Given the description of an element on the screen output the (x, y) to click on. 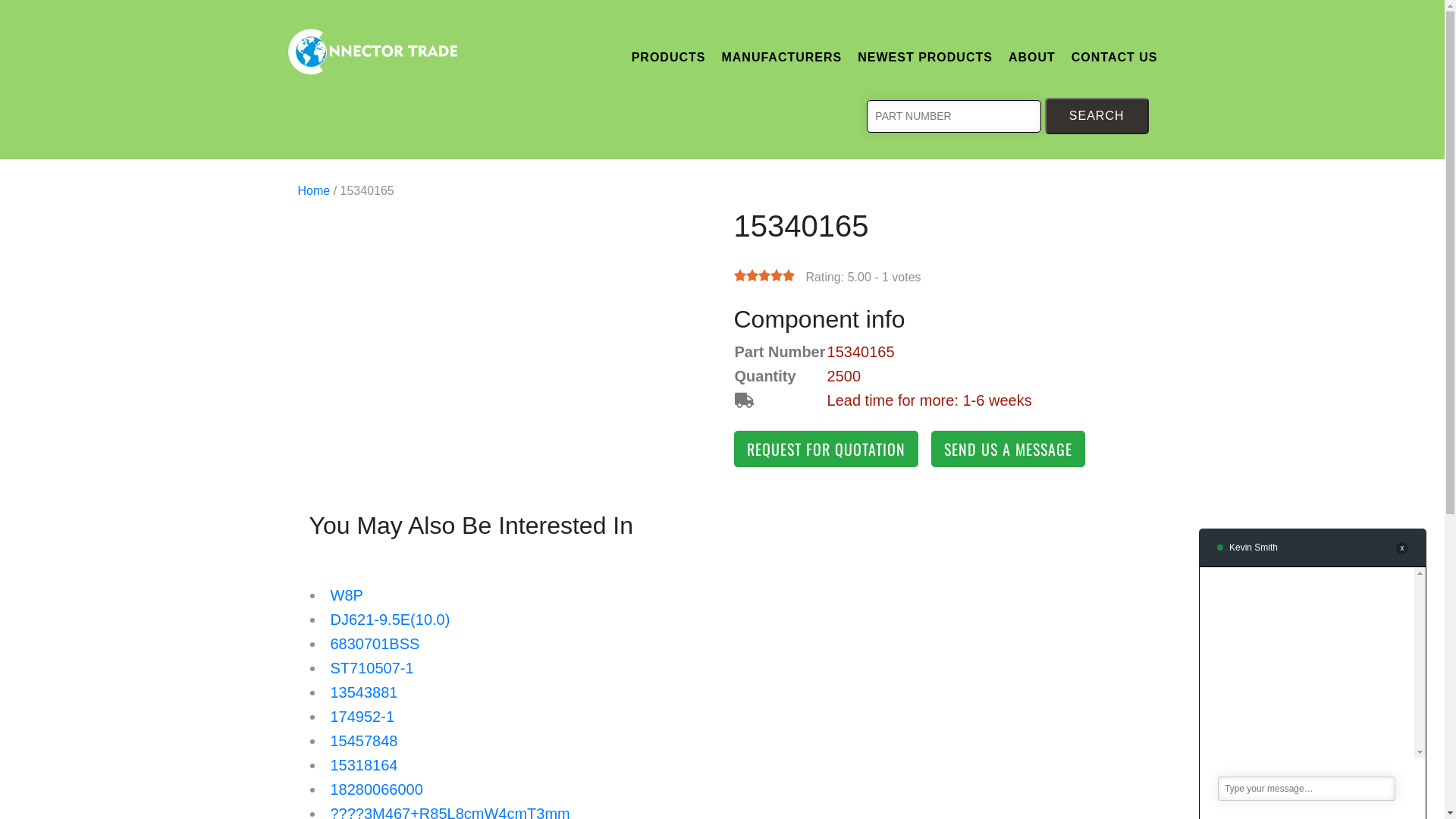
Home Element type: text (314, 190)
6830701BSS Element type: text (375, 643)
ABOUT Element type: text (1032, 56)
13543881 Element type: text (364, 692)
MANUFACTURERS Element type: text (781, 56)
18280066000 Element type: text (376, 789)
DJ621-9.5E(10.0) Element type: text (390, 619)
REQUEST FOR QUOTATION Element type: text (826, 448)
NEWEST PRODUCTS Element type: text (925, 56)
15318164 Element type: text (364, 764)
CONTACT US Element type: text (1114, 56)
15457848 Element type: text (364, 740)
x Element type: text (1402, 548)
SEND US A MESSAGE Element type: text (1008, 448)
Search Element type: text (1096, 115)
PRODUCTS Element type: text (668, 56)
ST710507-1 Element type: text (372, 667)
174952-1 Element type: text (362, 716)
W8P Element type: text (346, 594)
